Given the description of an element on the screen output the (x, y) to click on. 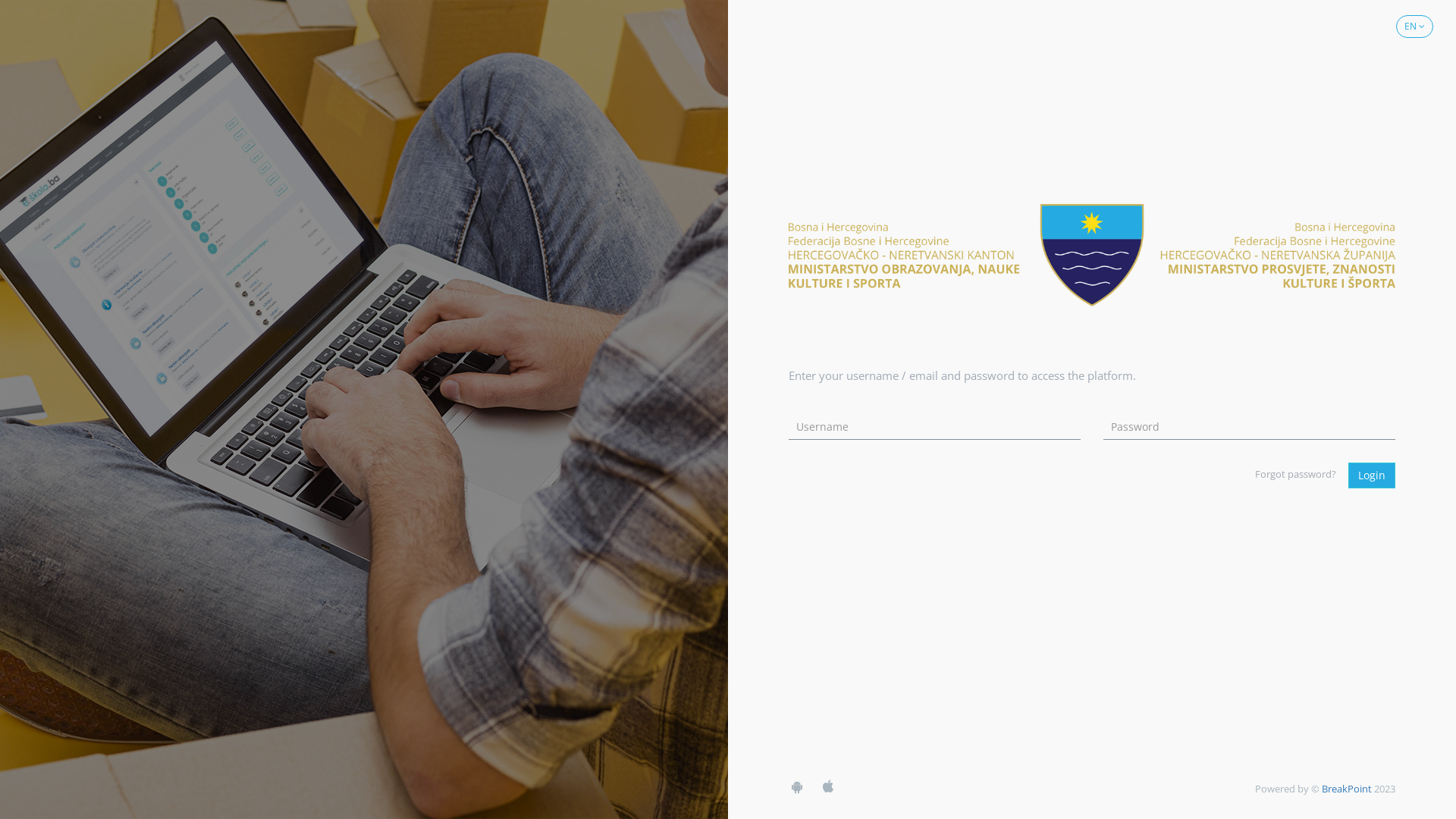
Forgot password? Element type: text (1295, 473)
BreakPoint Element type: text (1346, 788)
Login Element type: text (1371, 475)
EN Element type: text (1414, 26)
